Given the description of an element on the screen output the (x, y) to click on. 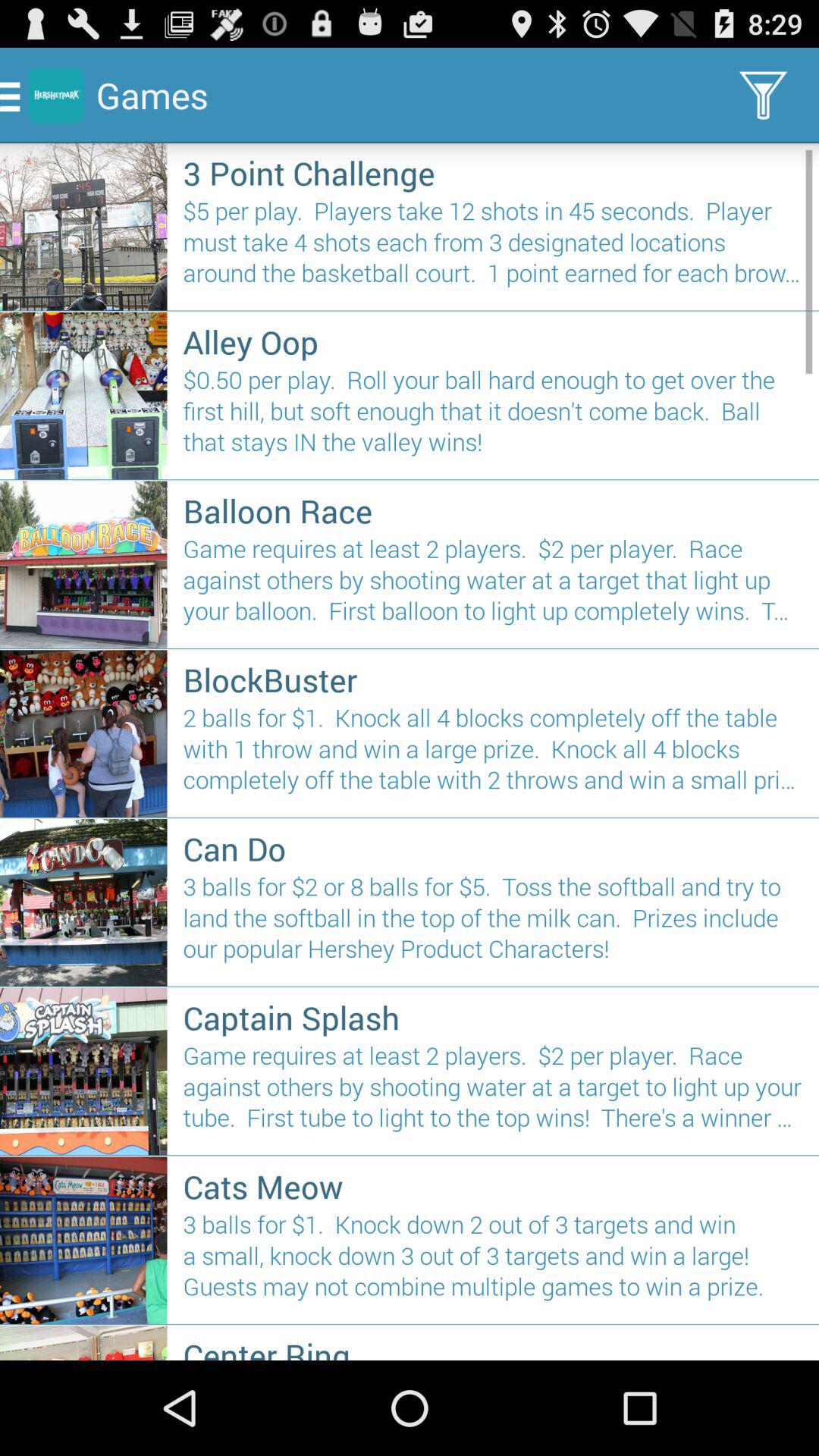
tap the icon above 0 50 per item (493, 341)
